Given the description of an element on the screen output the (x, y) to click on. 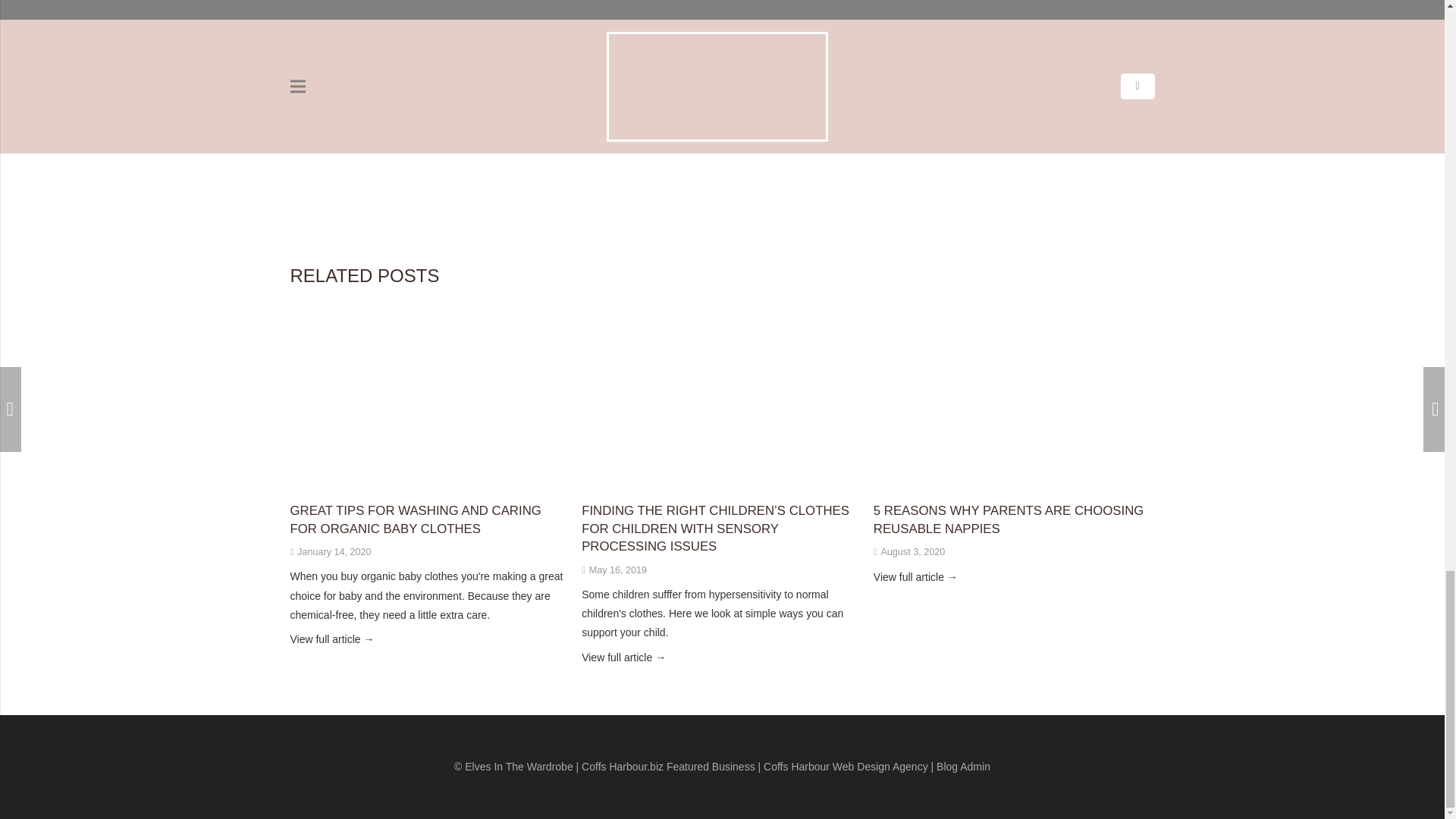
organic baby food (461, 138)
organic puree (534, 138)
babies' first foods (334, 138)
baby food (398, 138)
